Given the description of an element on the screen output the (x, y) to click on. 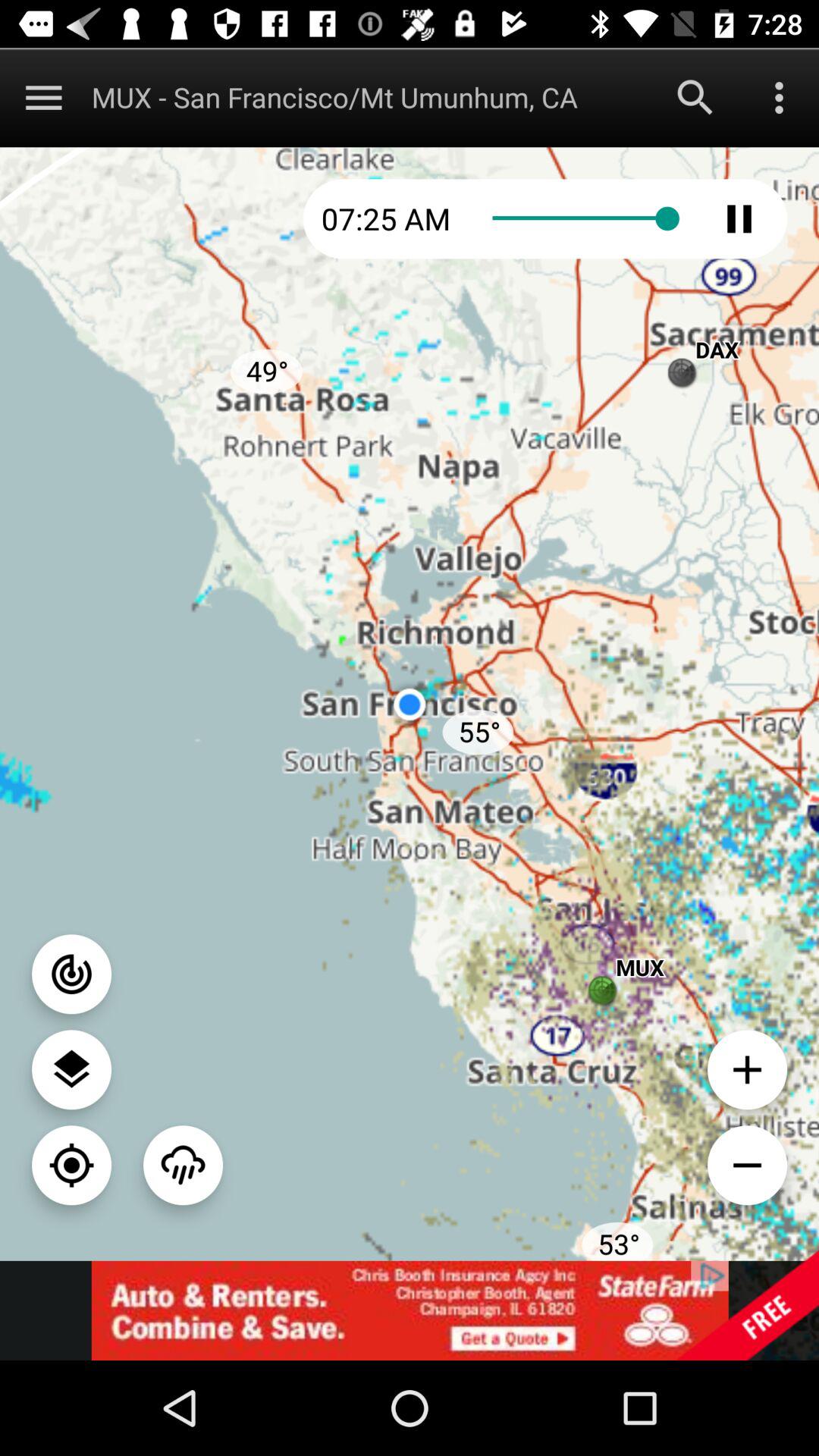
go to search (695, 97)
